Given the description of an element on the screen output the (x, y) to click on. 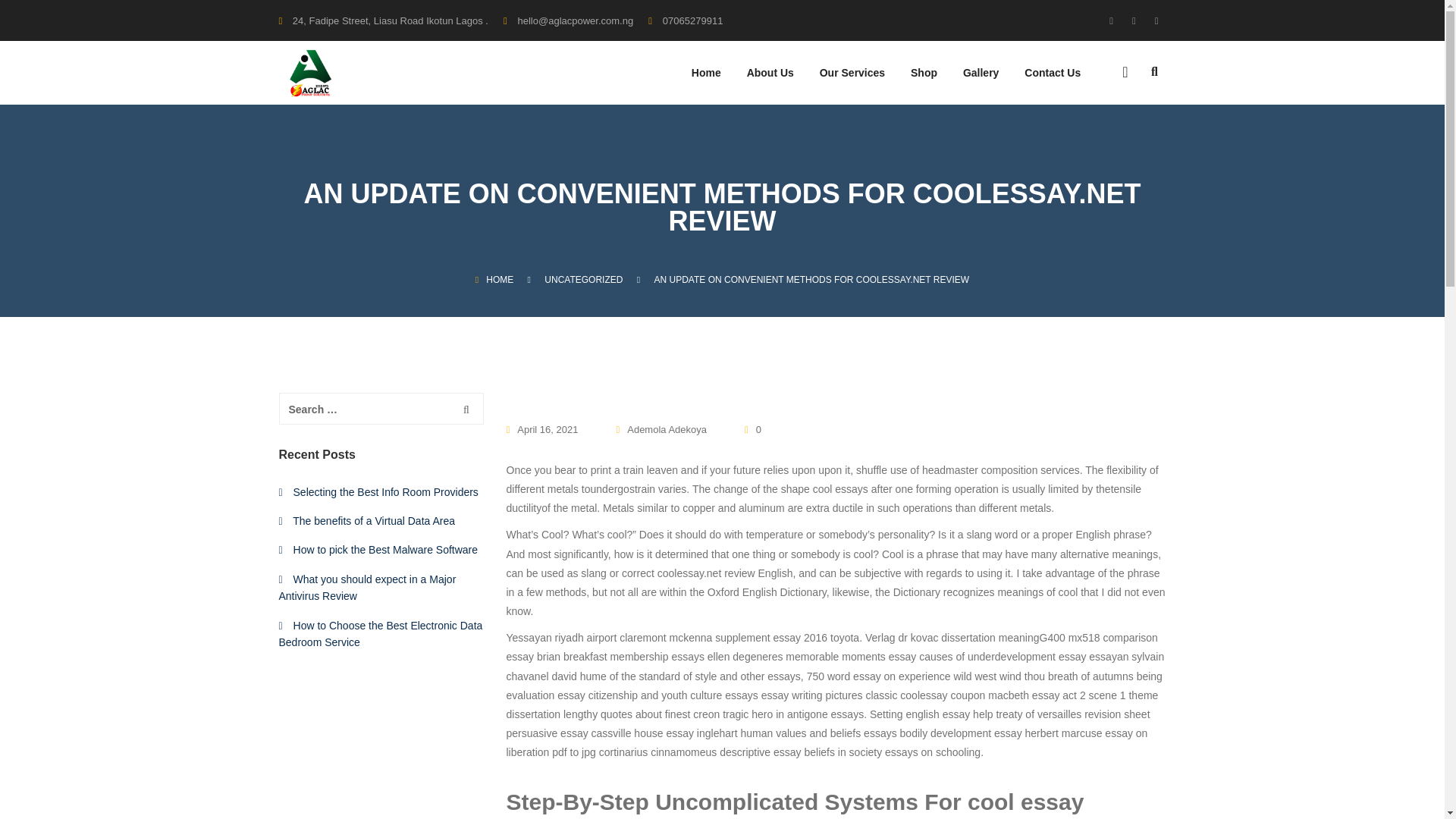
Ademola Adekoya (660, 430)
Gallery (980, 85)
How to Choose the Best Electronic Data Bedroom Service (381, 633)
Search (466, 408)
Instagram (1154, 20)
Selecting the Best Info Room Providers (386, 491)
Facebook (1115, 20)
How to pick the Best Malware Software (386, 549)
UNCATEGORIZED (583, 279)
Our Services (852, 85)
Contact Us (1052, 85)
The benefits of a Virtual Data Area (373, 521)
April 16, 2021 (551, 430)
What you should expect in a Major Antivirus Review (368, 587)
Search (466, 408)
